Given the description of an element on the screen output the (x, y) to click on. 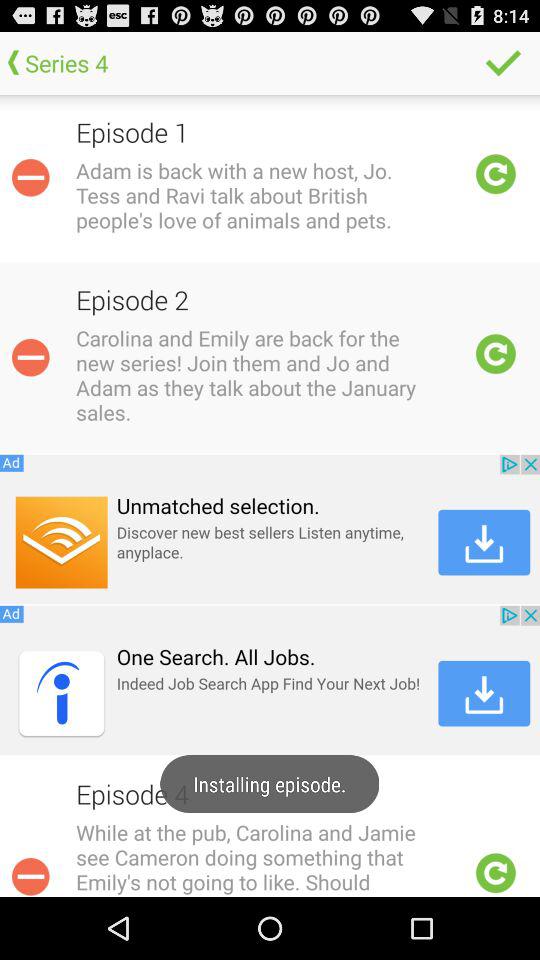
close (30, 874)
